Given the description of an element on the screen output the (x, y) to click on. 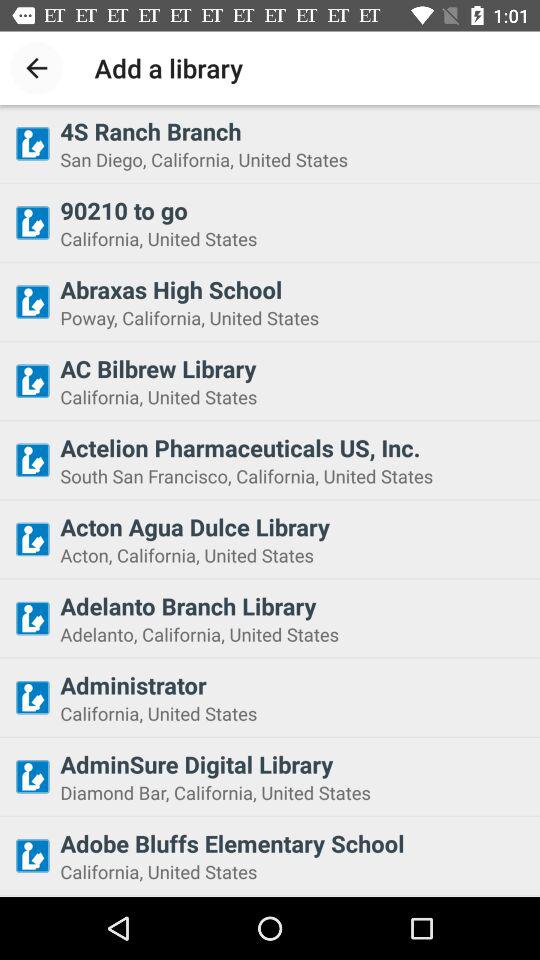
swipe to the 4s ranch branch icon (294, 131)
